Given the description of an element on the screen output the (x, y) to click on. 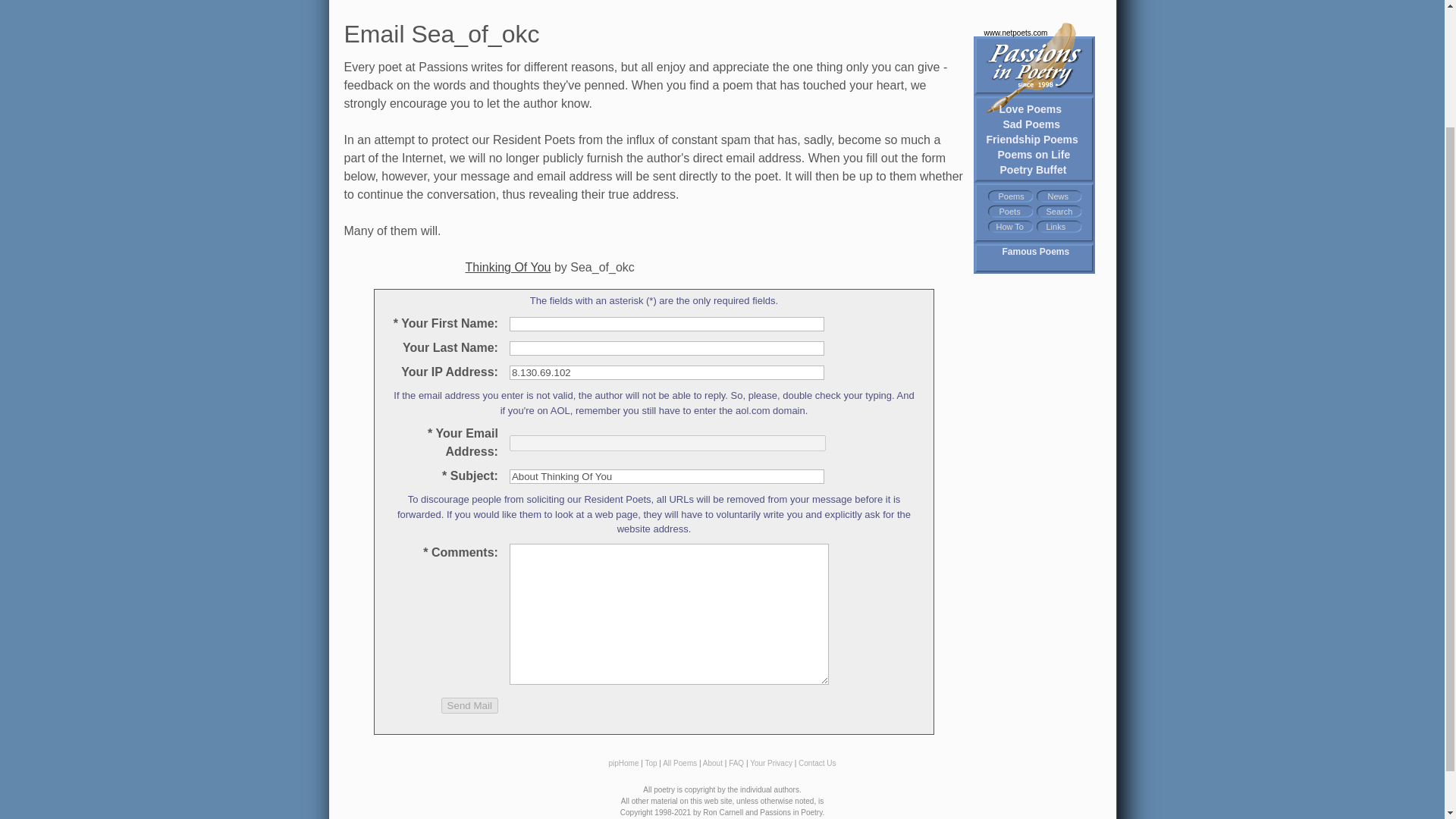
How To (1009, 226)
www.netpoets.com (1024, 59)
Famous Poems (1036, 251)
Love Poems (1029, 108)
About (712, 763)
Your Privacy (770, 763)
How to Write Better Poetry (1009, 226)
Poets (1009, 211)
Poems on Life (1033, 154)
Poetry Categories Site Map (1010, 196)
Friendship Poems (1031, 139)
Thinking Of You (508, 266)
Poems (1010, 196)
Contact Us (816, 763)
Links (1055, 226)
